Given the description of an element on the screen output the (x, y) to click on. 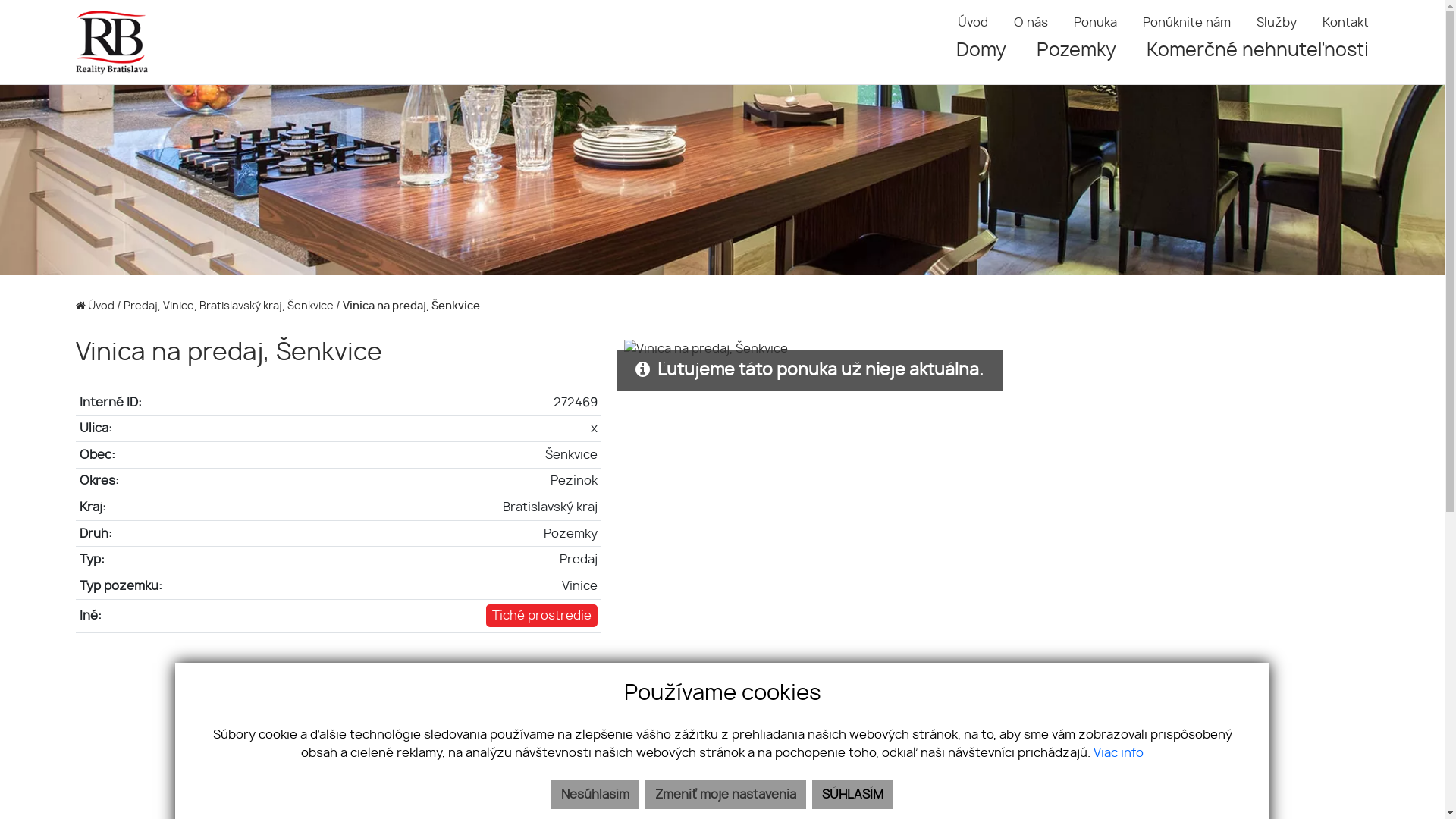
Viac info Element type: text (1118, 752)
Kontakt Element type: text (1345, 22)
Ponuka Element type: text (1095, 22)
Domy Element type: text (981, 50)
Pozemky Element type: text (1076, 50)
